Given the description of an element on the screen output the (x, y) to click on. 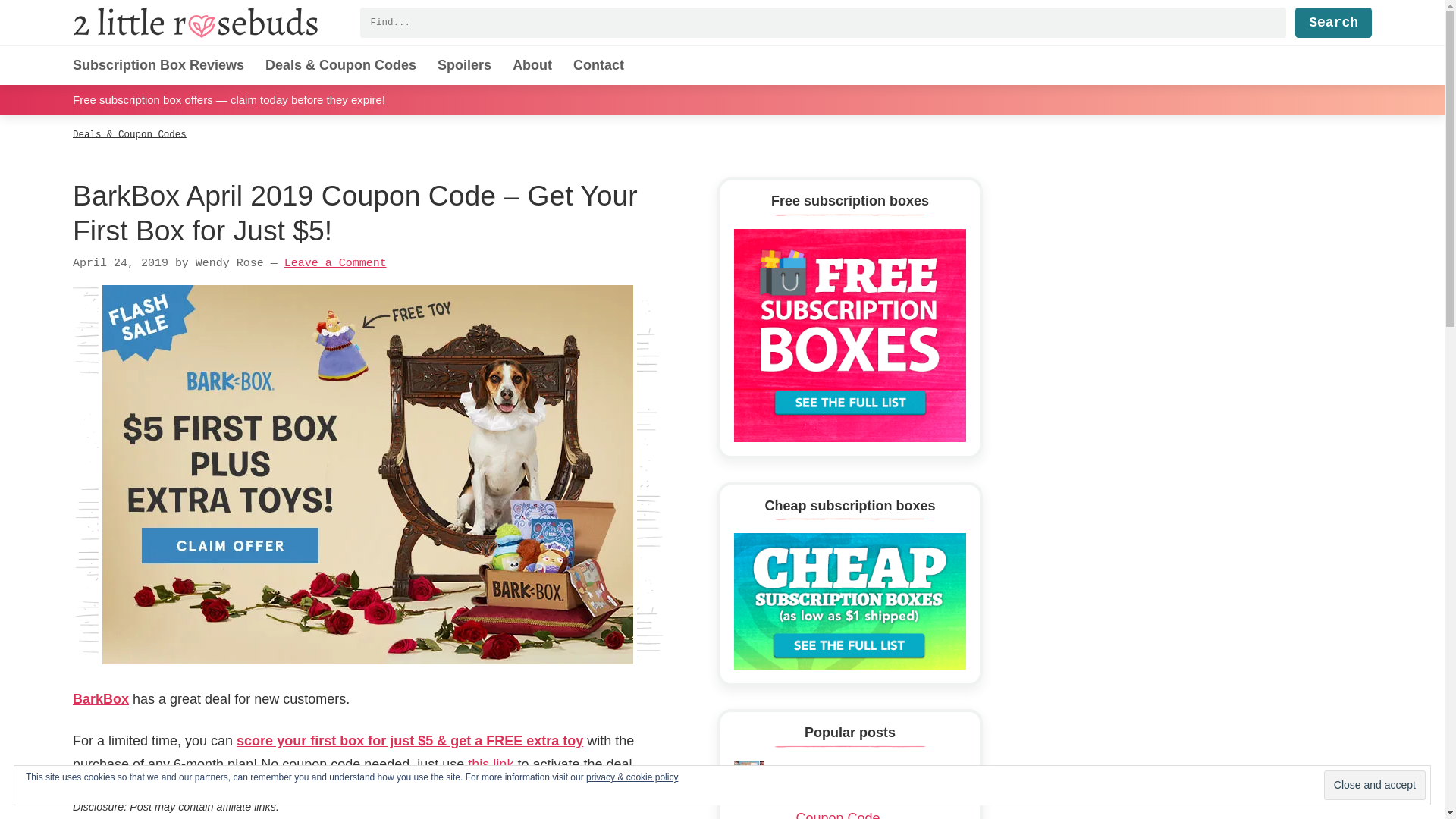
Search (1333, 22)
Close and accept (1374, 785)
Cheap subscription boxes (849, 601)
About (531, 65)
this link (490, 764)
Search (1333, 22)
Search (1333, 22)
Leave a Comment (335, 263)
Contact (598, 65)
